Given the description of an element on the screen output the (x, y) to click on. 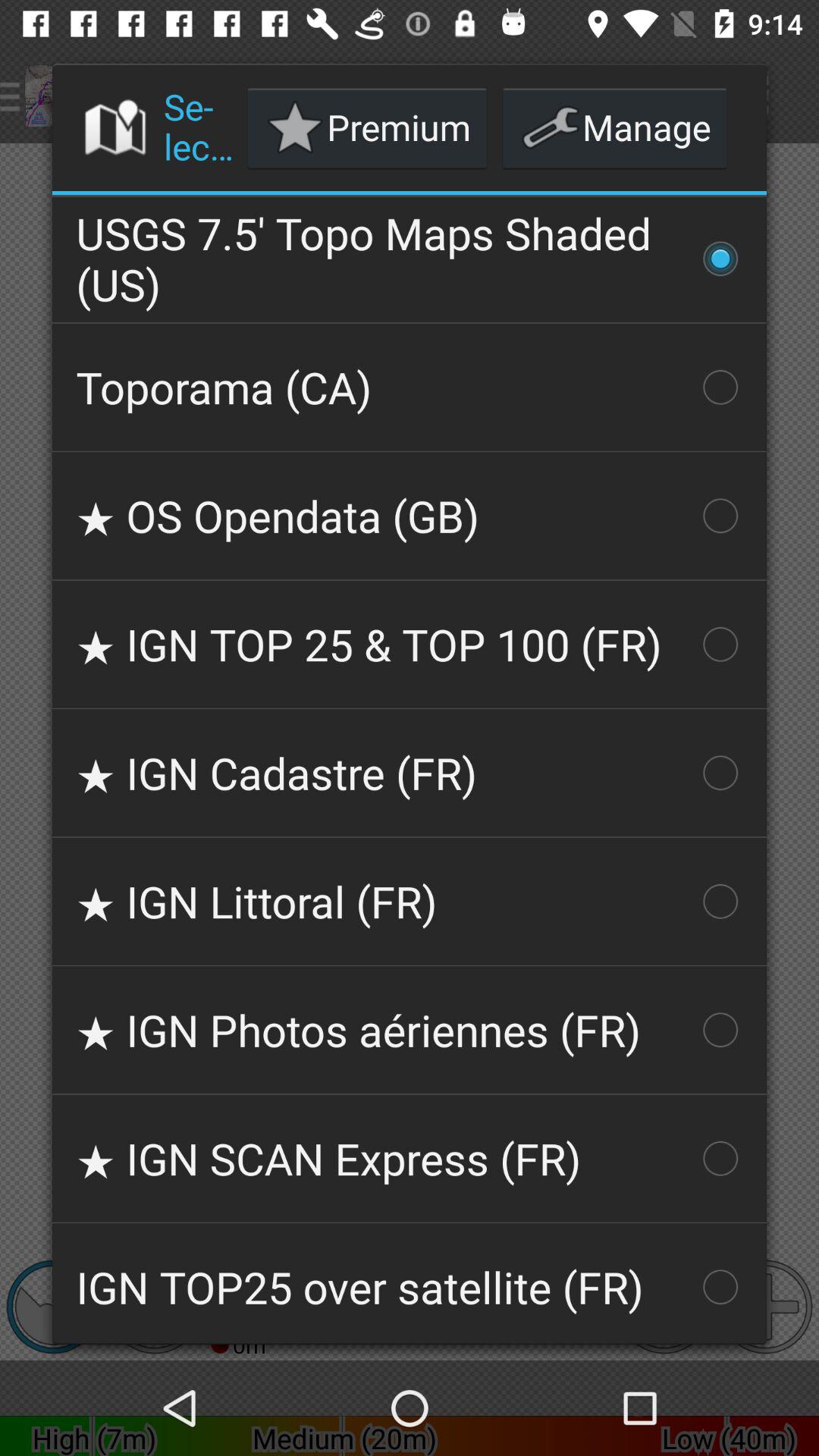
flip until premium (366, 127)
